Given the description of an element on the screen output the (x, y) to click on. 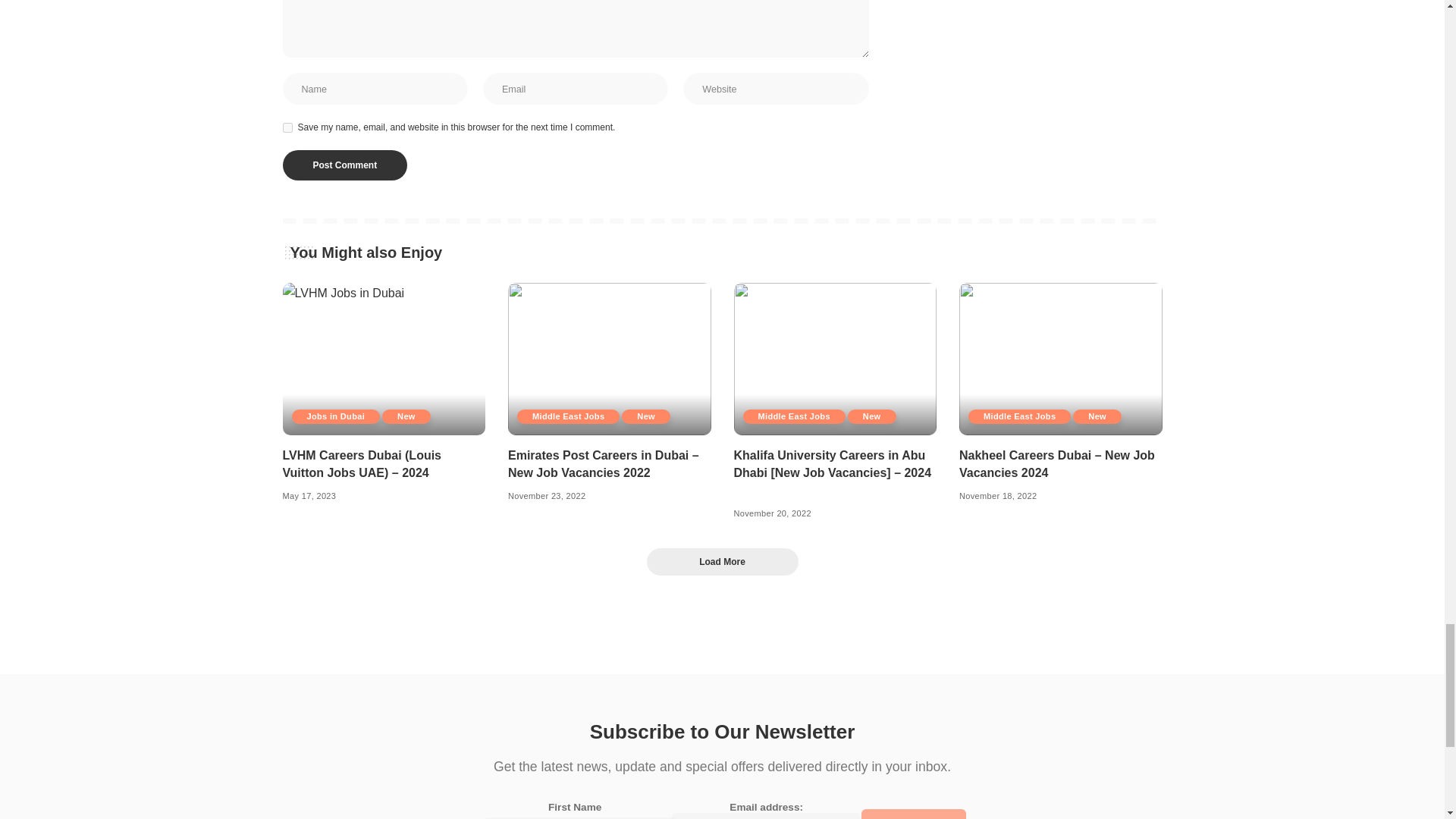
Post Comment (344, 164)
Sign up (913, 814)
yes (287, 127)
